Given the description of an element on the screen output the (x, y) to click on. 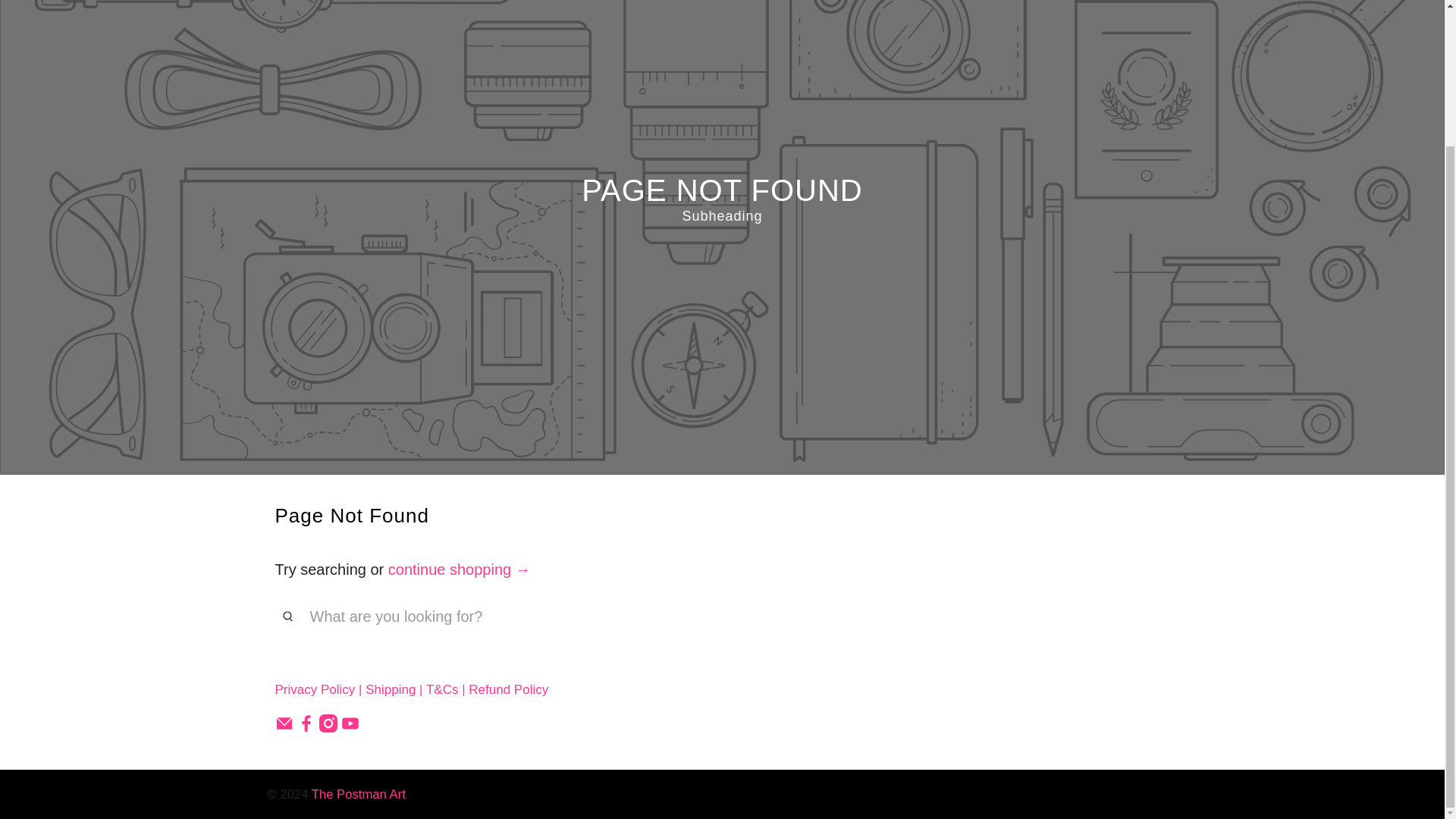
Refund Policy (508, 689)
Shipping Policy (389, 689)
The Postman Art (358, 794)
The Postman Art on Instagram (327, 728)
Email The Postman Art (283, 728)
Privacy Policy (315, 689)
Terms of Service (442, 689)
Refund Policy (508, 689)
Shipping (389, 689)
The Postman Art on YouTube (349, 728)
Privacy Policy (315, 689)
The Postman Art on Facebook (306, 728)
